Given the description of an element on the screen output the (x, y) to click on. 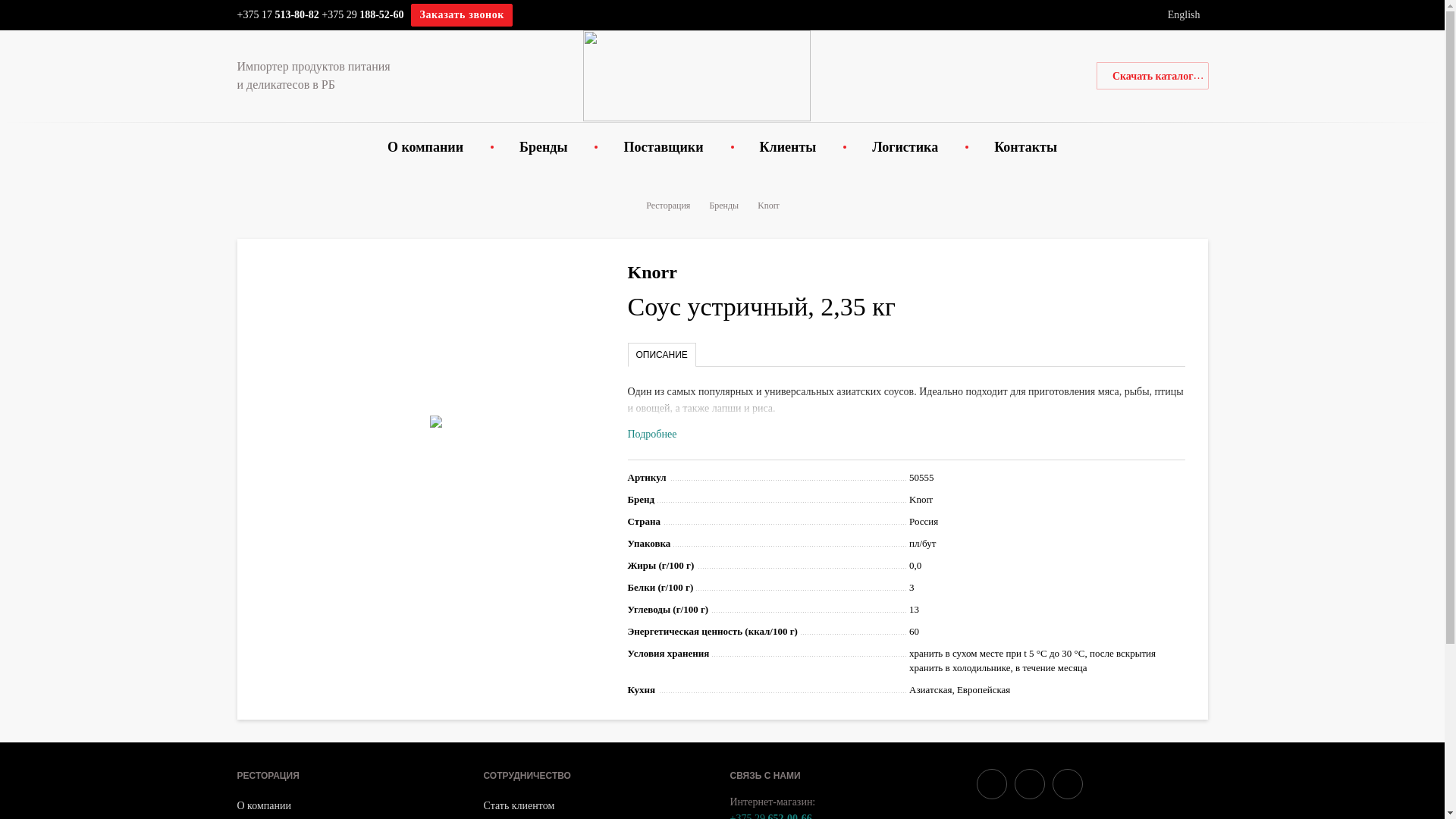
Knorr Element type: text (768, 205)
+375 17 513-80 Element type: text (270, 14)
+375 29 188-52-60 Element type: text (362, 14)
English Element type: text (1184, 15)
- Element type: text (306, 14)
82 Element type: text (313, 14)
